Given the description of an element on the screen output the (x, y) to click on. 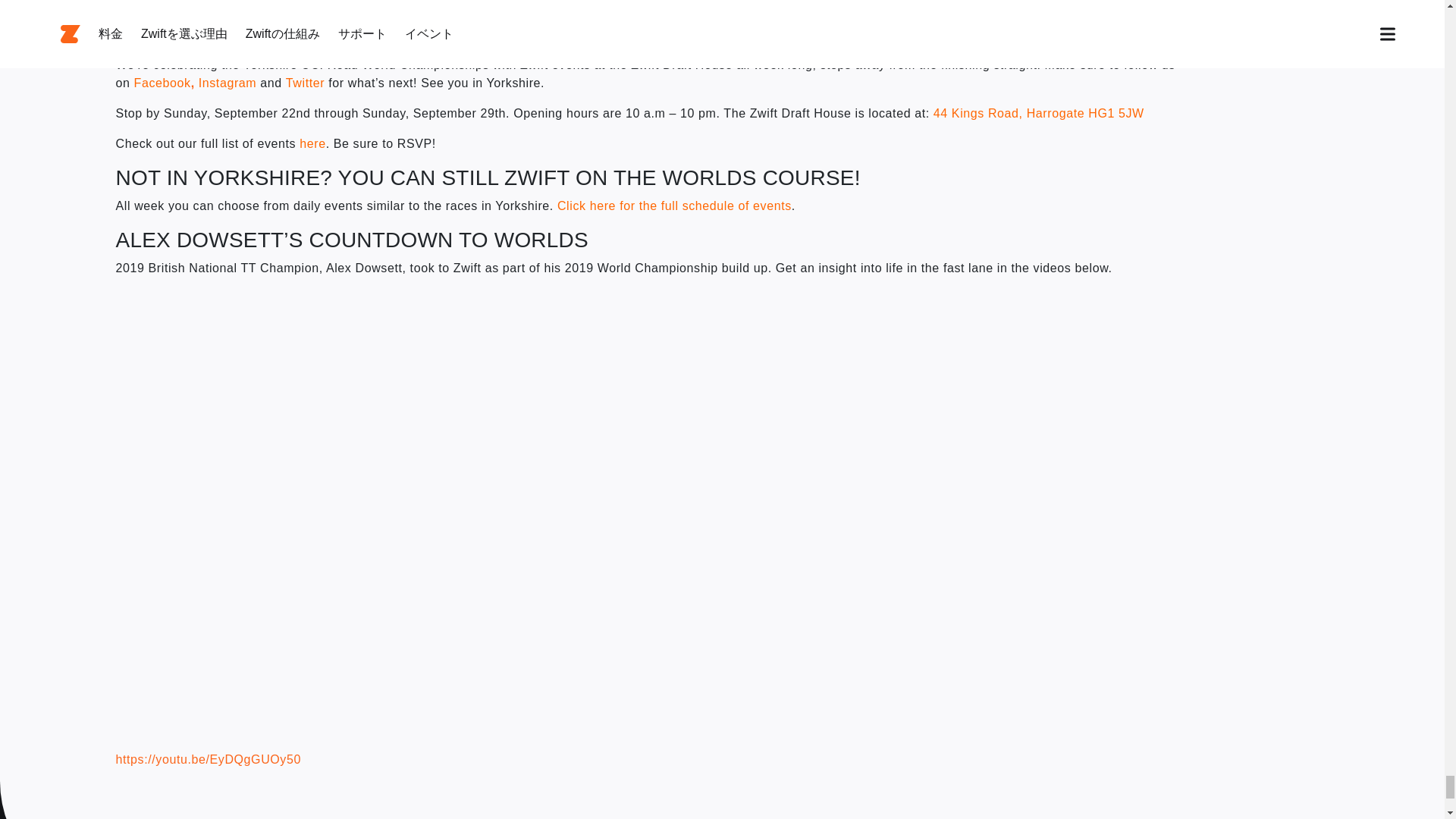
Facebook, (164, 82)
44 Kings Road, Harrogate HG1 5JW (1038, 113)
here (311, 143)
Instagram (227, 82)
Click here for the full schedule of events (674, 205)
UCI Road World Championships Overview (305, 3)
Twitter (304, 82)
